Given the description of an element on the screen output the (x, y) to click on. 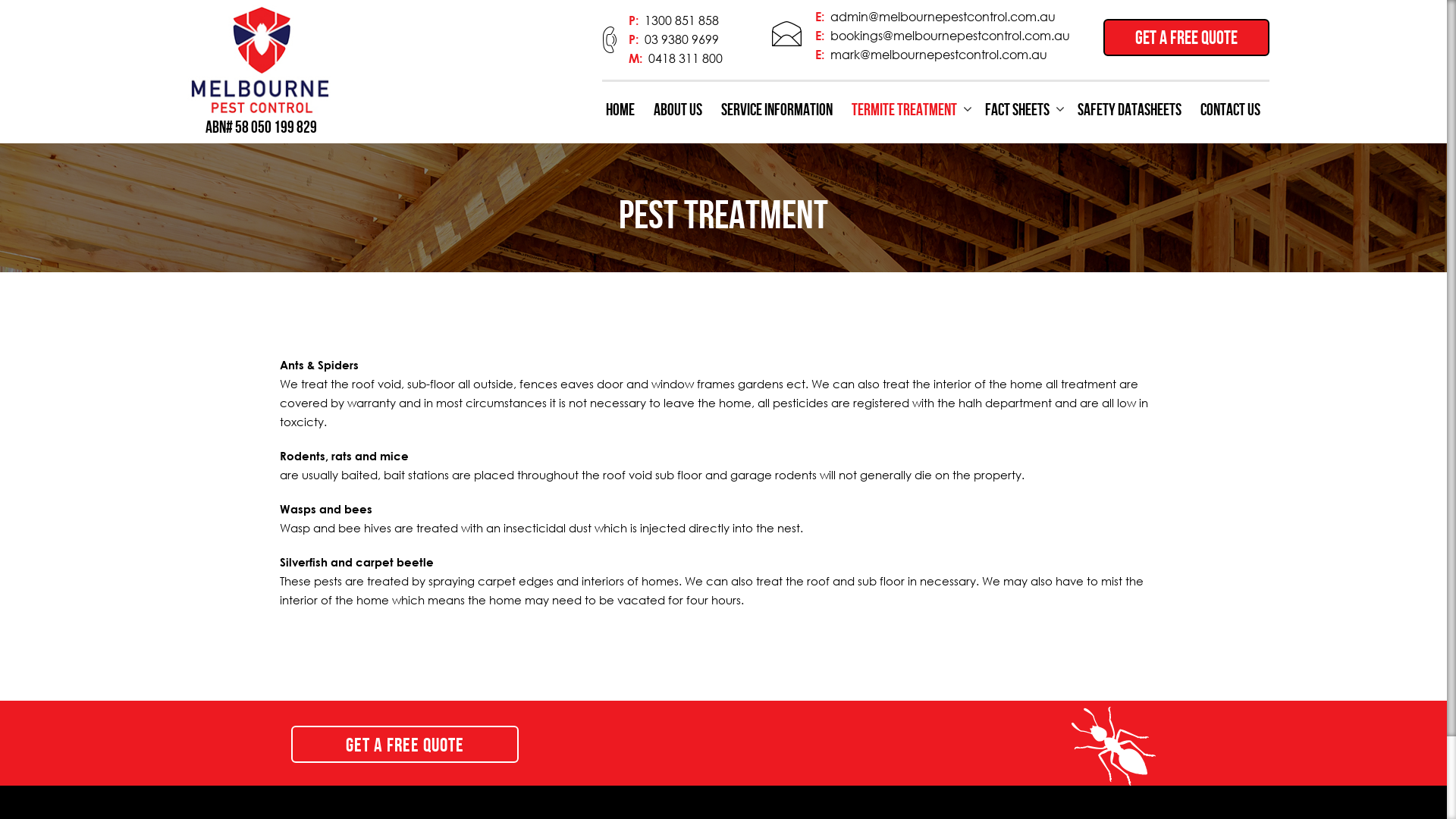
TERMITE TREATMENT Element type: text (908, 109)
1300 851 858 Element type: text (681, 20)
ABOUT US Element type: text (677, 108)
GET A FREE QUOTE Element type: text (404, 743)
CONTACT US Element type: text (1229, 108)
admin@melbournepestcontrol.com.au Element type: text (942, 16)
0418 311 800 Element type: text (685, 57)
HOME Element type: text (619, 108)
SAFETY DATASHEETS Element type: text (1128, 108)
bookings@melbournepestcontrol.com.au Element type: text (950, 35)
FACT SHEETS Element type: text (1021, 109)
SERVICE INFORMATION Element type: text (776, 108)
03 9380 9699 Element type: text (681, 39)
GET A FREE QUOTE Element type: text (1186, 37)
mark@melbournepestcontrol.com.au Element type: text (938, 54)
